Given the description of an element on the screen output the (x, y) to click on. 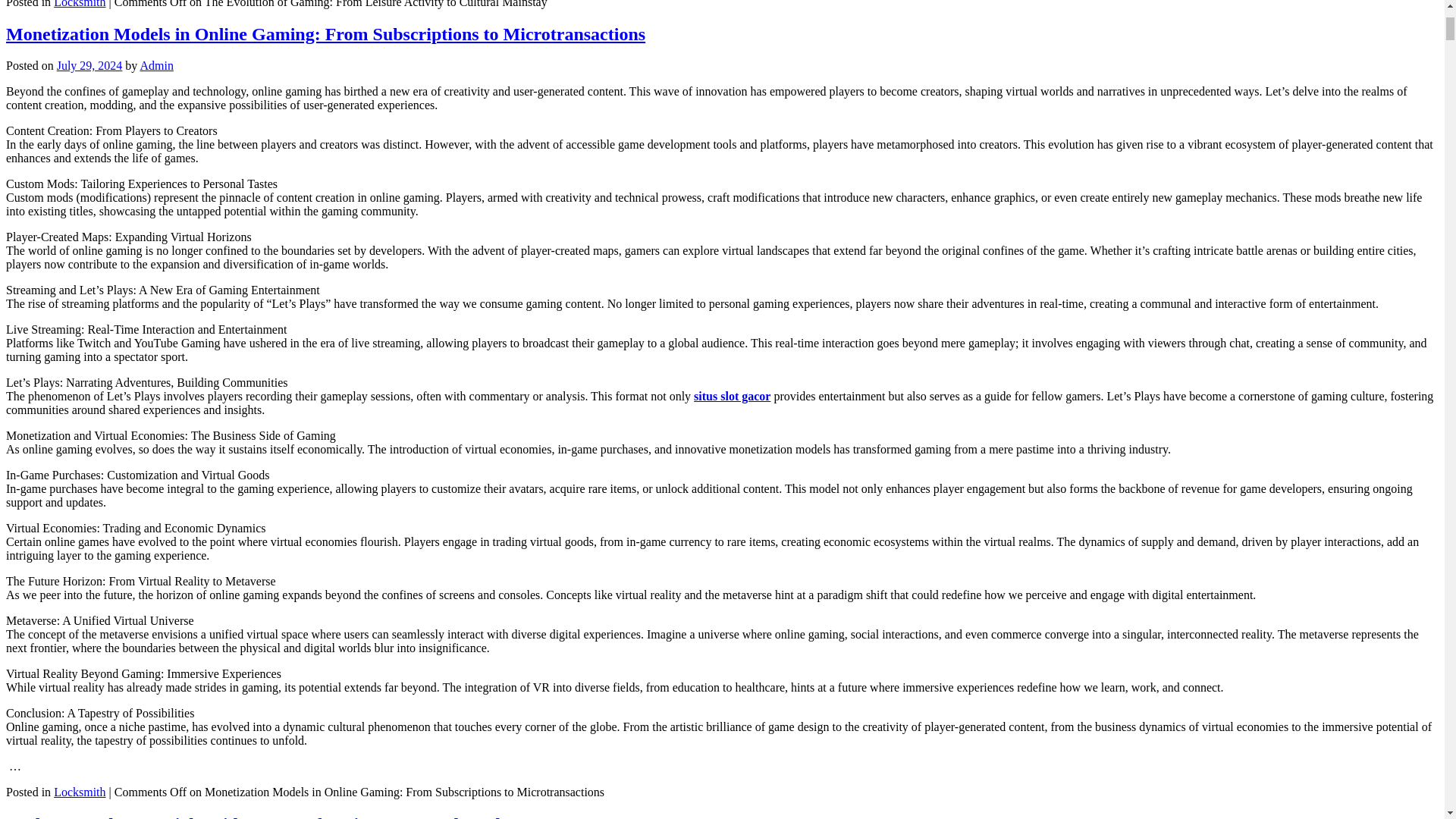
View all posts by Admin (156, 65)
Locksmith (78, 4)
July 29, 2024 (89, 65)
Admin (156, 65)
situs slot gacor (732, 395)
Locksmith (78, 791)
